Given the description of an element on the screen output the (x, y) to click on. 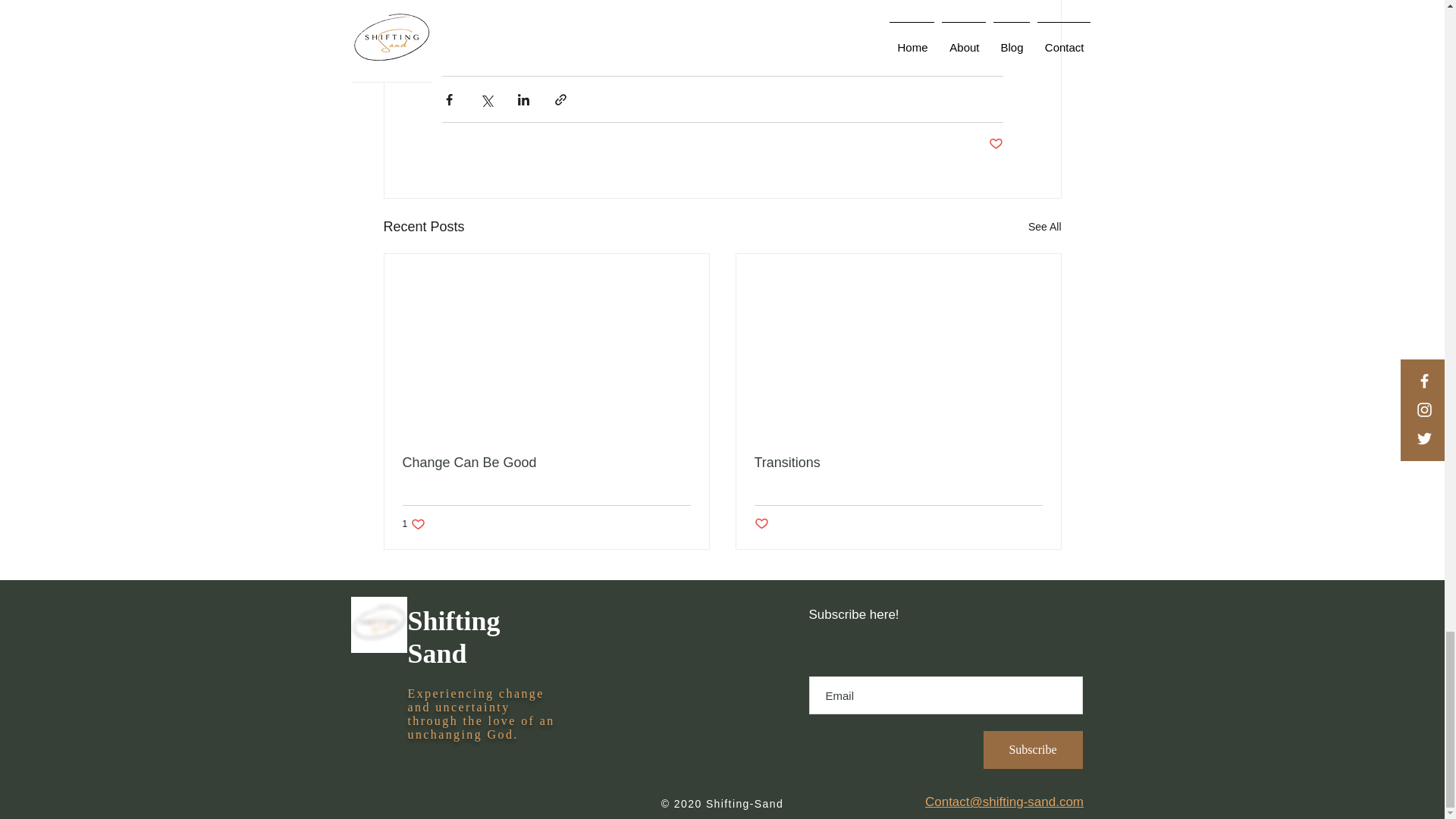
Subscribe (1031, 750)
Change Can Be Good (413, 523)
See All (545, 462)
Shifting Sand (1044, 227)
Post not marked as liked (453, 637)
Post not marked as liked (761, 524)
Transitions (995, 144)
